Given the description of an element on the screen output the (x, y) to click on. 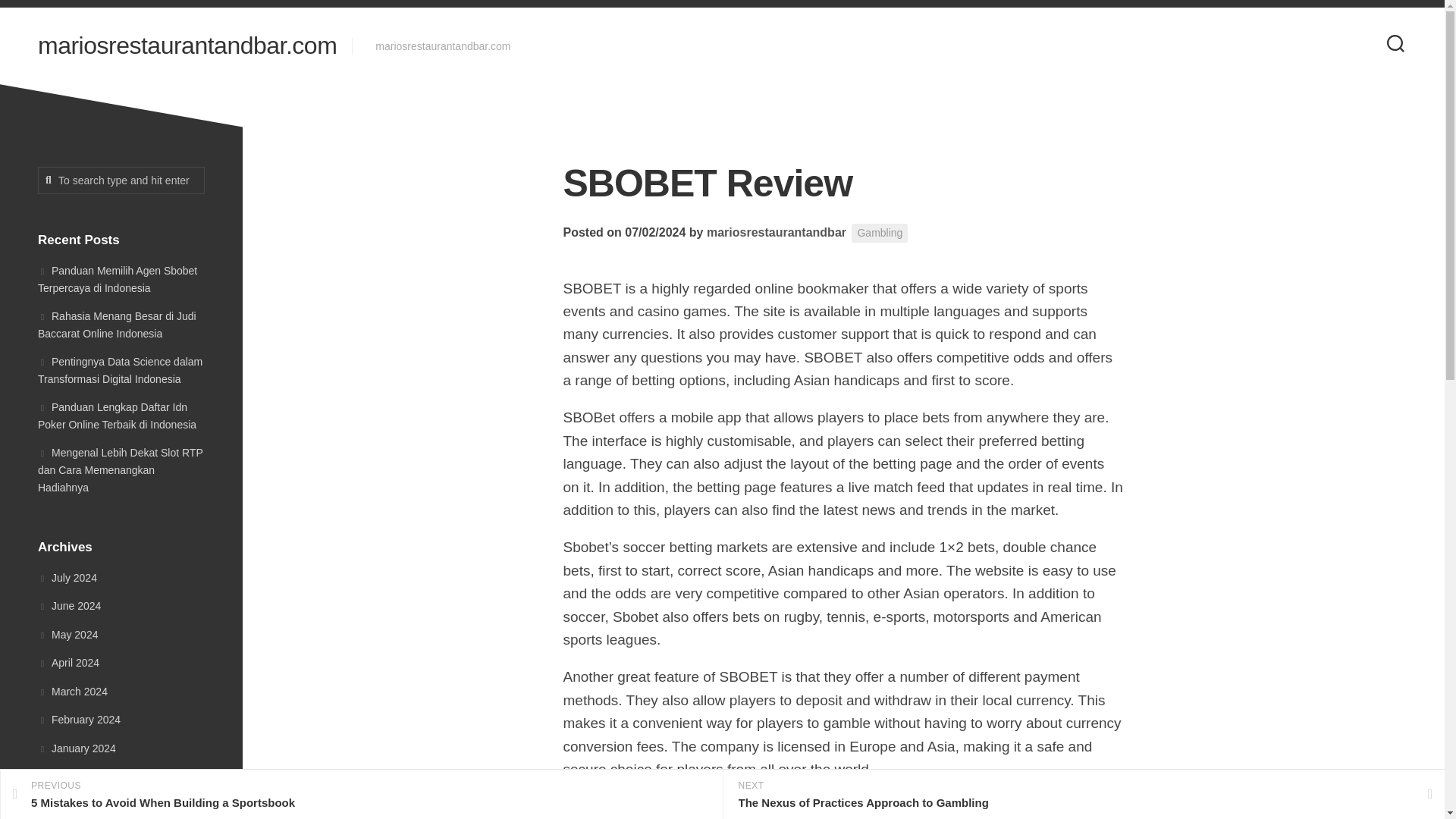
June 2024 (68, 605)
Posts by mariosrestaurantandbar (775, 232)
April 2024 (68, 662)
Mengenal Lebih Dekat Slot RTP dan Cara Memenangkan Hadiahnya (120, 469)
mariosrestaurantandbar (775, 232)
May 2024 (67, 633)
Panduan Lengkap Daftar Idn Poker Online Terbaik di Indonesia (116, 415)
February 2024 (78, 719)
To search type and hit enter (121, 180)
December 2023 (82, 776)
Pentingnya Data Science dalam Transformasi Digital Indonesia (119, 369)
Rahasia Menang Besar di Judi Baccarat Online Indonesia (116, 324)
Gambling (361, 794)
Panduan Memilih Agen Sbobet Terpercaya di Indonesia (879, 232)
